Given the description of an element on the screen output the (x, y) to click on. 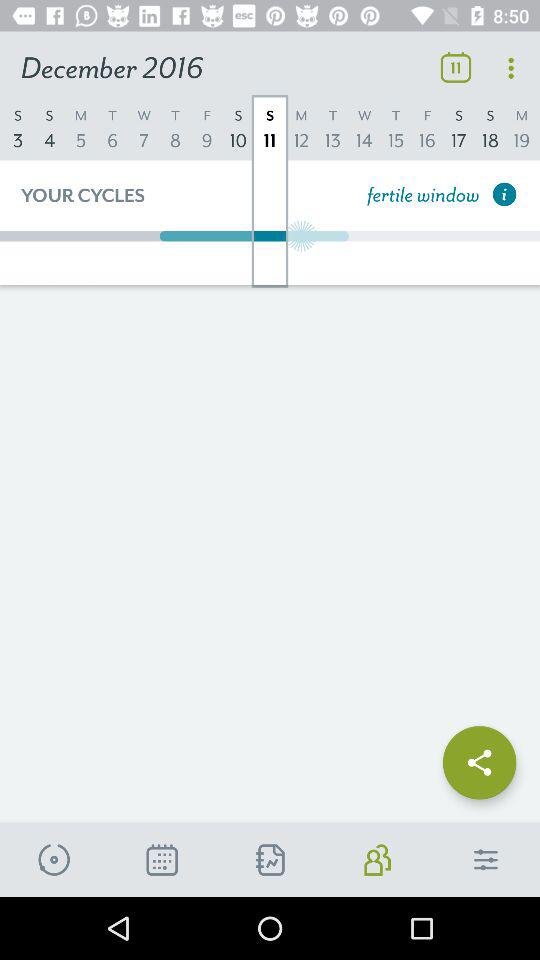
settings option (486, 860)
